Given the description of an element on the screen output the (x, y) to click on. 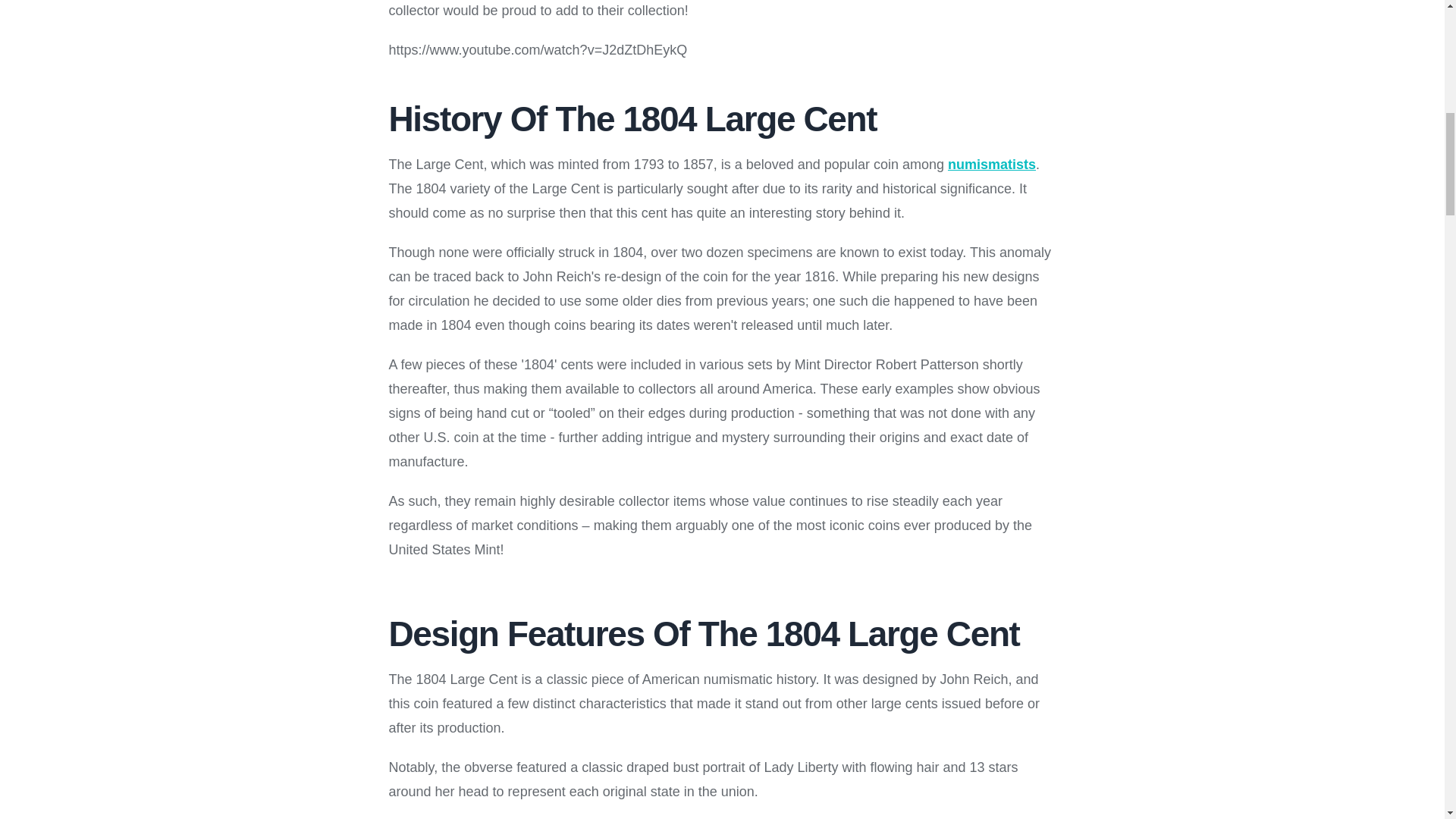
numismatists (991, 164)
